Given the description of an element on the screen output the (x, y) to click on. 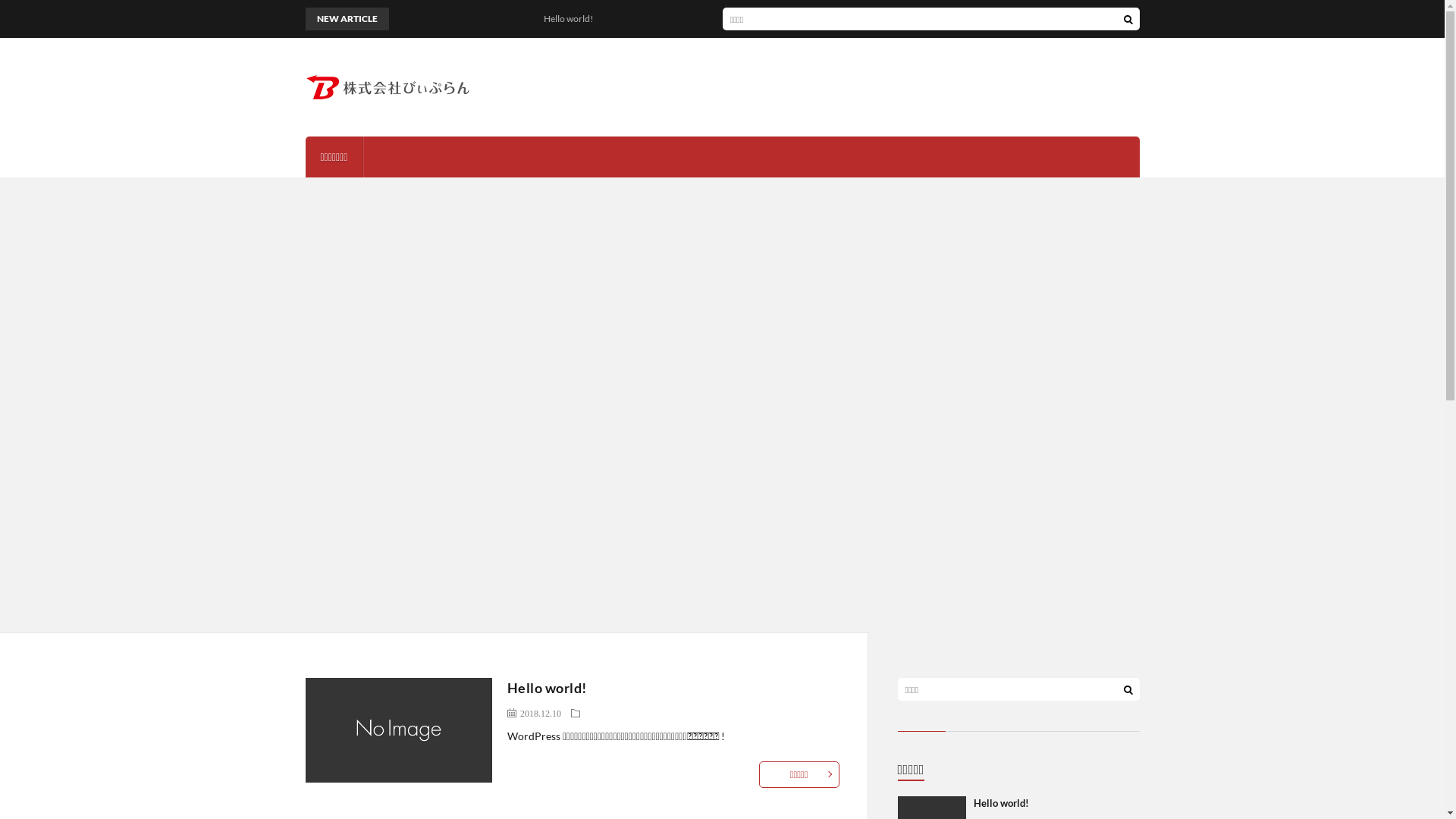
Hello world! Element type: text (440, 18)
Hello world! Element type: text (1001, 803)
search Element type: text (1127, 688)
Hello world! Element type: text (546, 687)
search Element type: text (1127, 18)
